Given the description of an element on the screen output the (x, y) to click on. 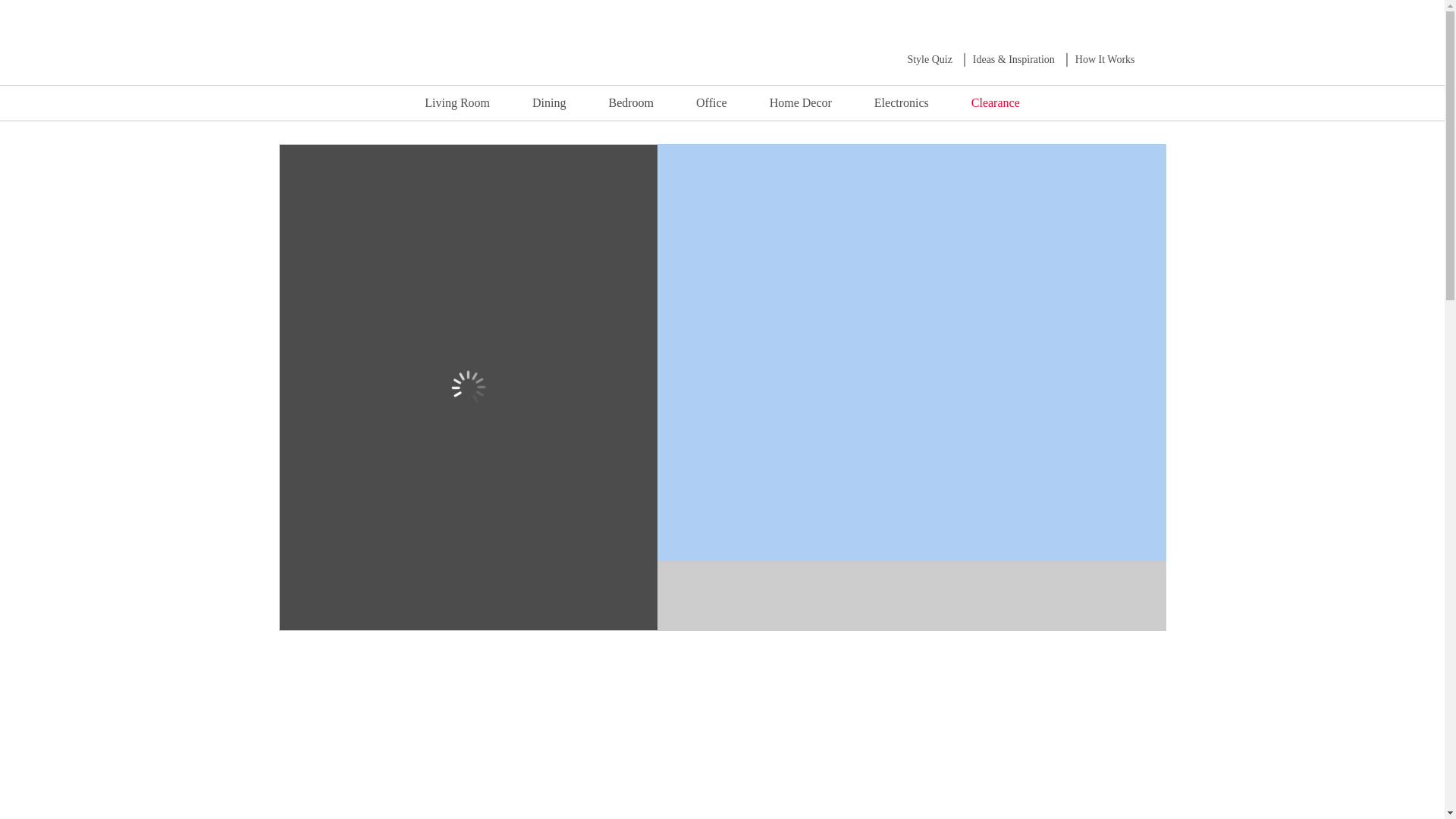
Style Quiz (929, 59)
Living Room (457, 102)
Bedroom (630, 102)
Office (711, 102)
Electronics (901, 102)
How It Works (1106, 59)
Dining (548, 102)
Home Decor (800, 102)
Clearance (995, 102)
